Given the description of an element on the screen output the (x, y) to click on. 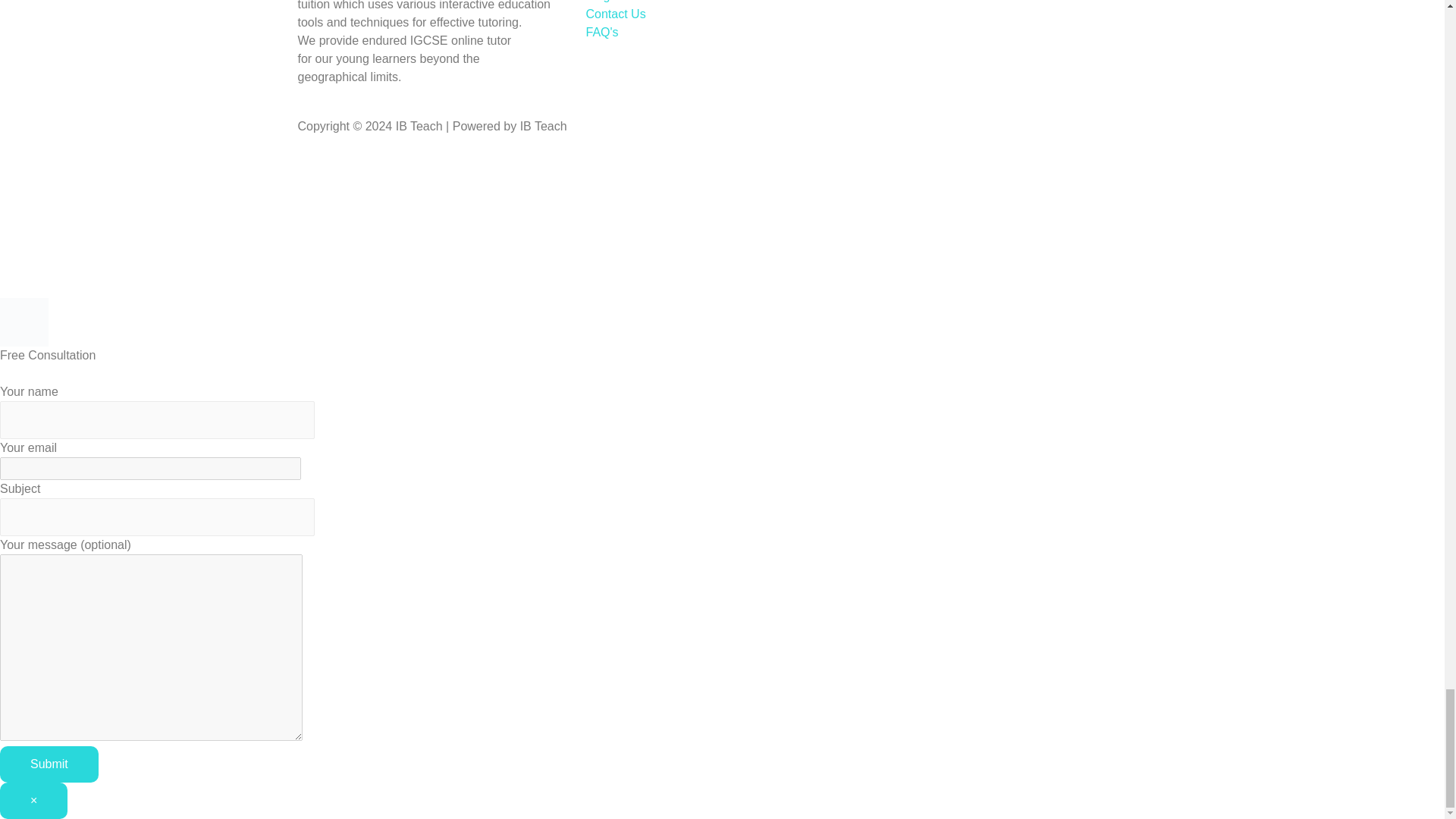
Submit (49, 764)
